Given the description of an element on the screen output the (x, y) to click on. 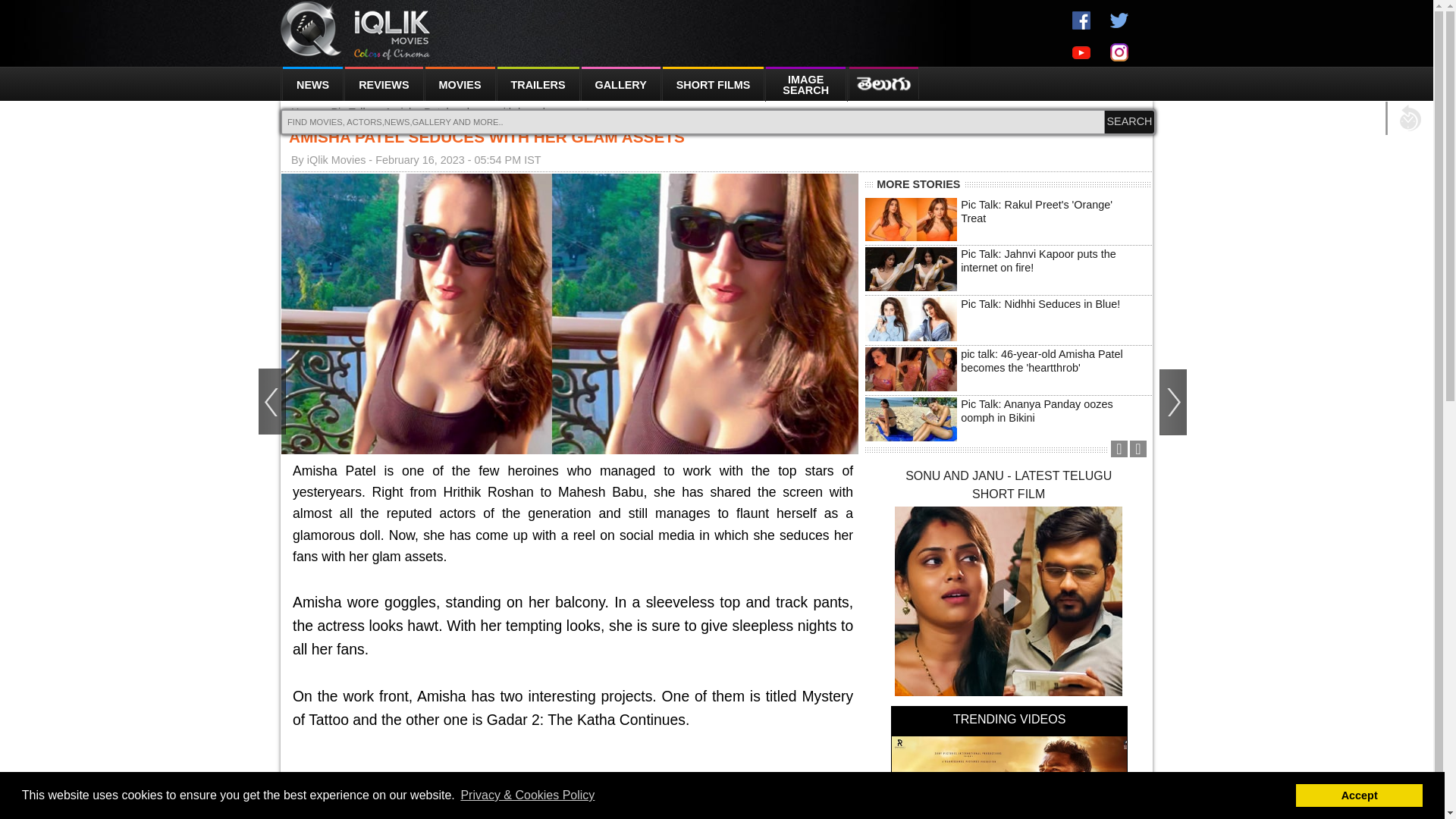
REVIEWS (383, 83)
NEWS (311, 83)
Accept (1358, 794)
iQlik - Home (355, 30)
TRAILERS (538, 83)
MOVIES (460, 83)
Previous (1118, 448)
Next (1138, 448)
